Given the description of an element on the screen output the (x, y) to click on. 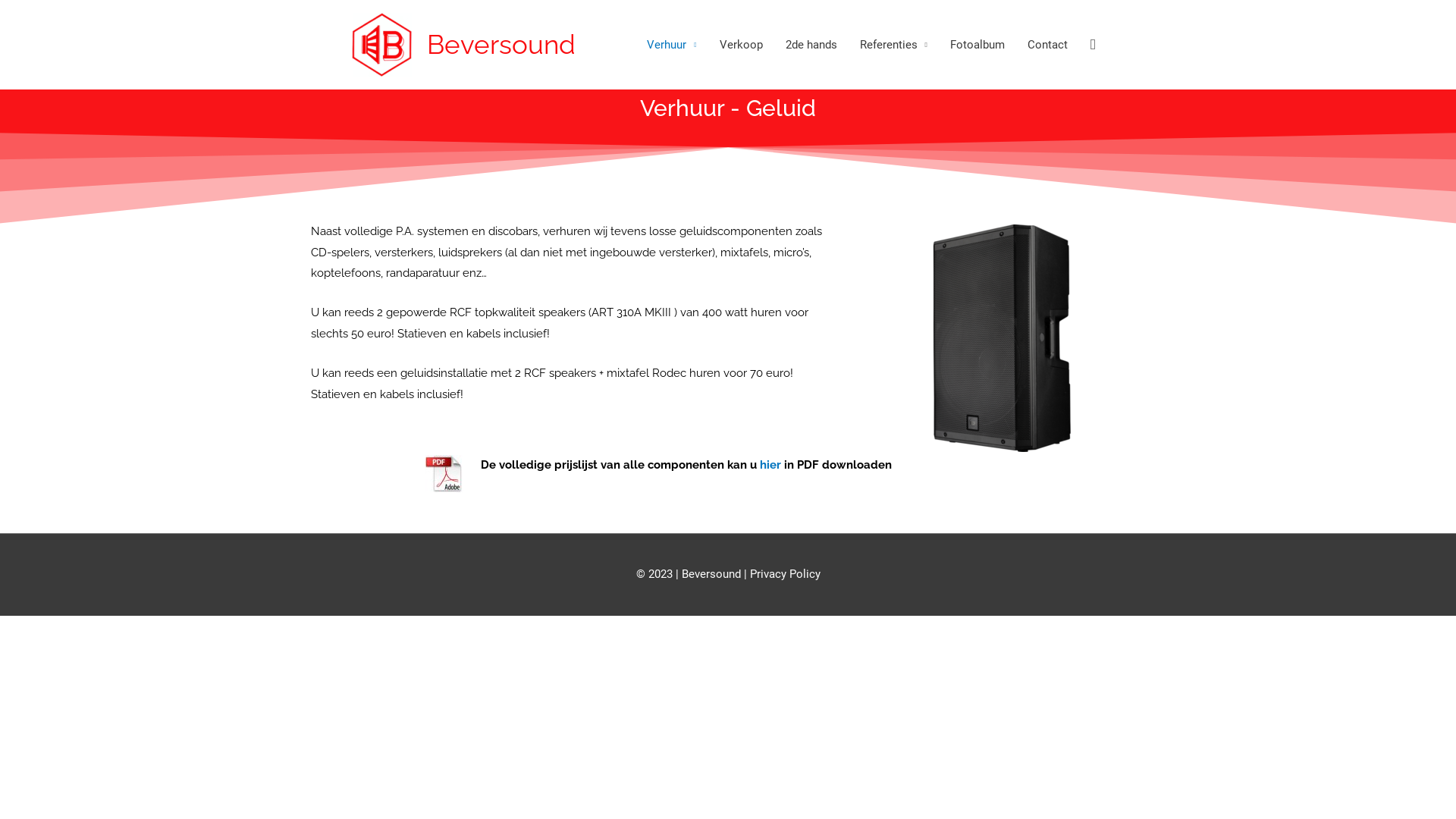
Contact Element type: text (1047, 44)
 hier Element type: text (768, 464)
2de hands Element type: text (811, 44)
PDF_Logokl Element type: hover (444, 473)
Verkoop Element type: text (741, 44)
Beversound Element type: text (500, 43)
Fotoalbum Element type: text (977, 44)
Referenties Element type: text (893, 44)
Zoeken Element type: text (32, 15)
Verhuur Element type: text (671, 44)
Verhuur - Geluid Element type: text (727, 107)
